Given the description of an element on the screen output the (x, y) to click on. 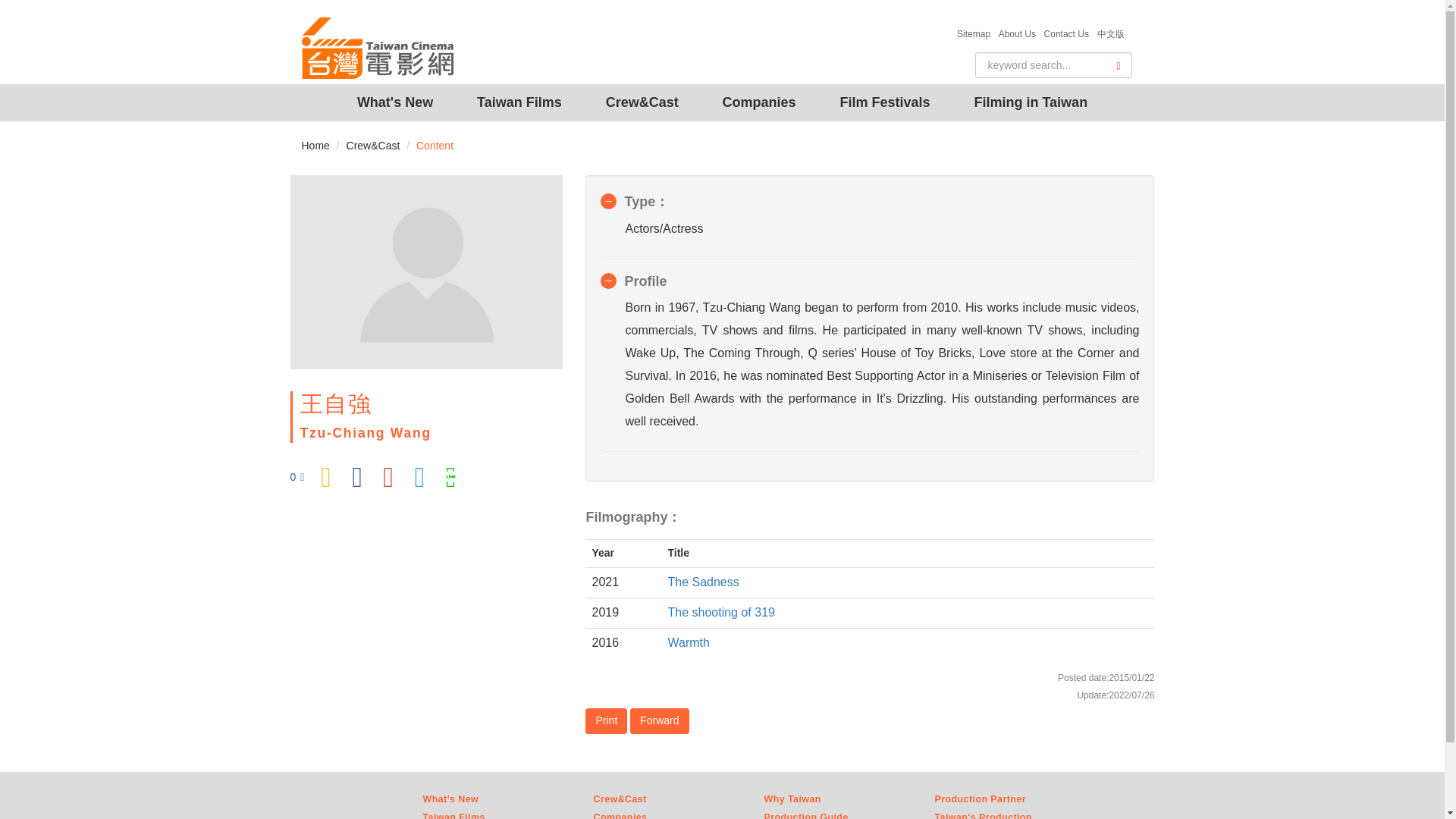
Taiwan Films (519, 102)
Sitemap   (975, 33)
Contact Us   (1068, 33)
Companies (758, 102)
About Us   (1019, 33)
What's New (394, 102)
